Given the description of an element on the screen output the (x, y) to click on. 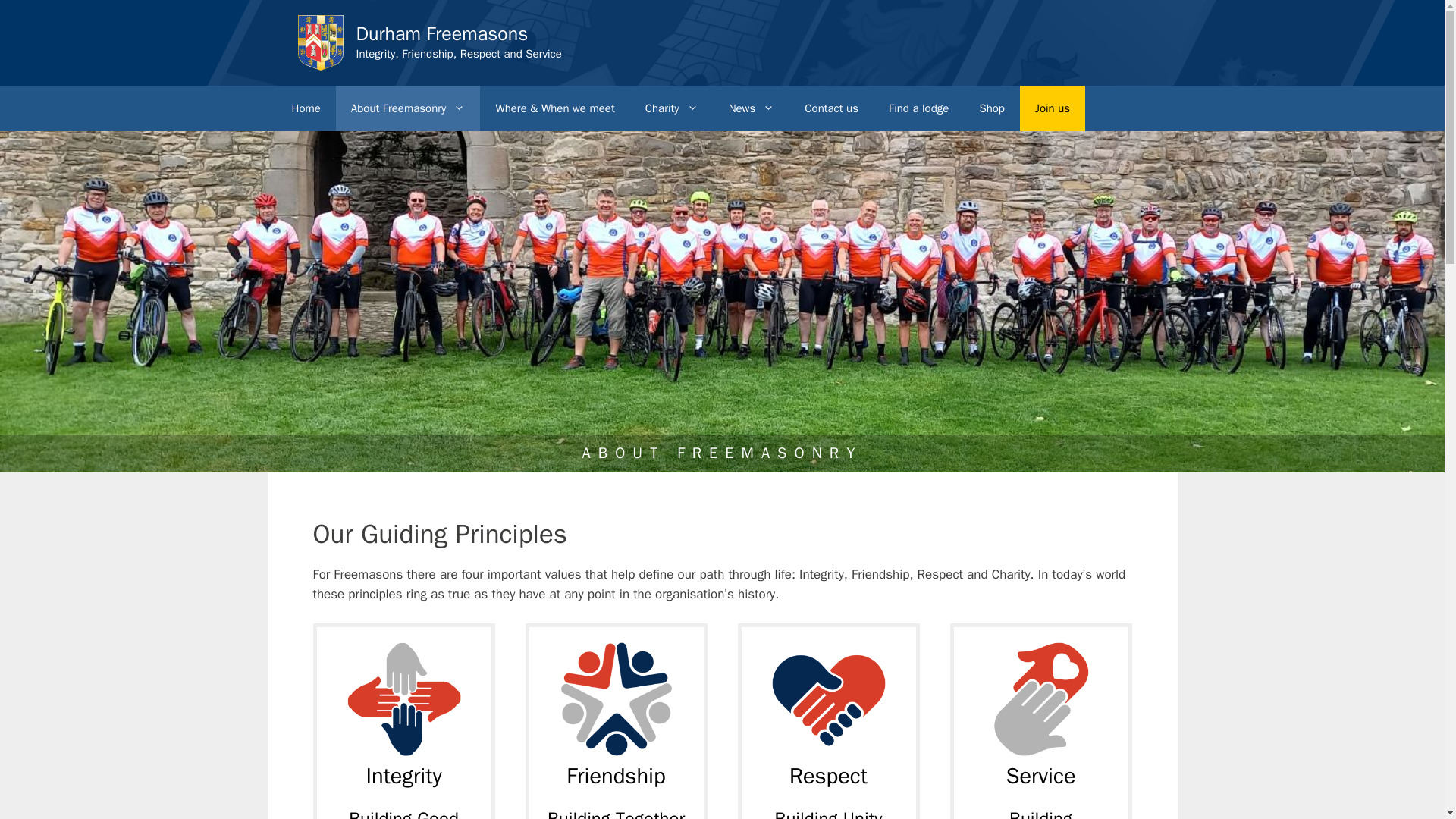
respect (828, 698)
Home (305, 108)
charity (1040, 698)
Durham Freemasons (442, 33)
friendship (615, 698)
integrity (404, 698)
About Freemasonry (408, 108)
